Given the description of an element on the screen output the (x, y) to click on. 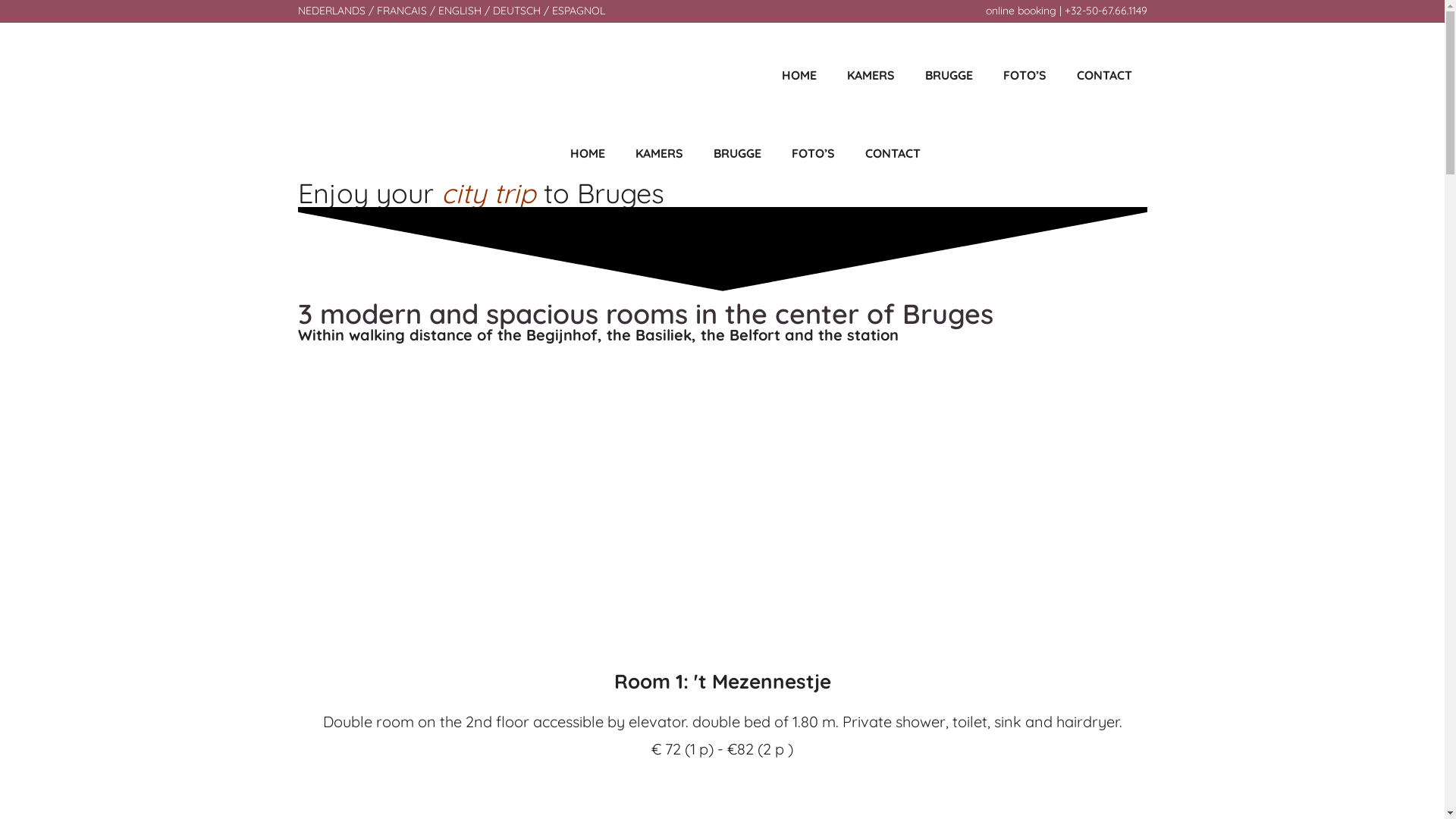
Room 1: 't Mezennestje Element type: text (722, 680)
online booking Element type: text (1020, 10)
B&B 't Walleke Element type: hover (319, 153)
BRUGGE Element type: text (736, 152)
HOME Element type: text (587, 152)
HOME Element type: text (798, 74)
FRANCAIS Element type: text (401, 10)
ESPAGNOL Element type: text (578, 10)
CONTACT Element type: text (892, 152)
KAMERS Element type: text (870, 74)
KAMERS Element type: text (659, 152)
NEDERLANDS Element type: text (330, 10)
DEUTSCH Element type: text (516, 10)
+32-50-67.66.1149 Element type: text (1105, 10)
BRUGGE Element type: text (949, 74)
ENGLISH Element type: text (459, 10)
CONTACT Element type: text (1104, 74)
